Given the description of an element on the screen output the (x, y) to click on. 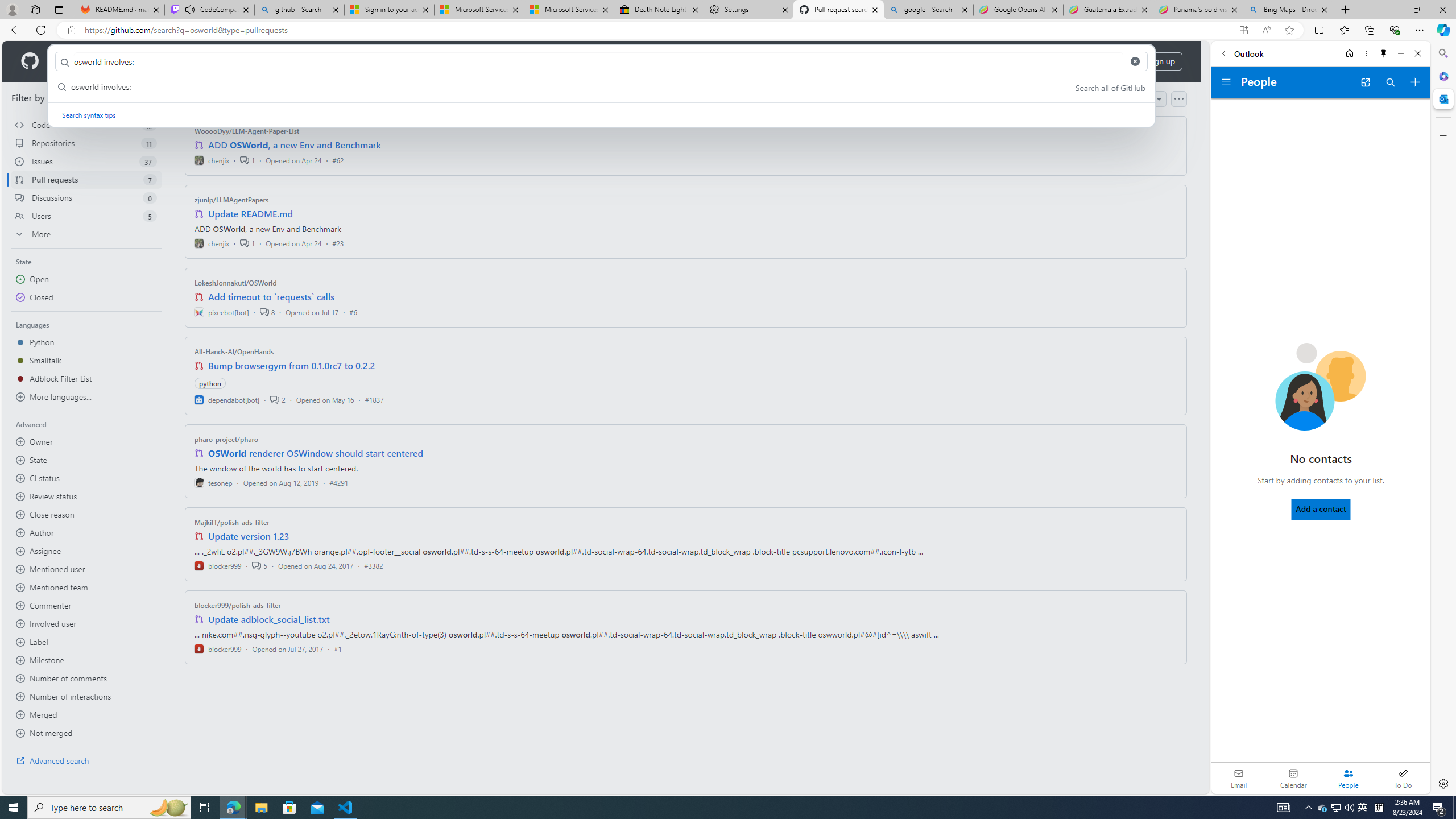
Update version 1.23 (248, 535)
Email (1238, 777)
Sign up (1161, 61)
Pricing (368, 60)
